Given the description of an element on the screen output the (x, y) to click on. 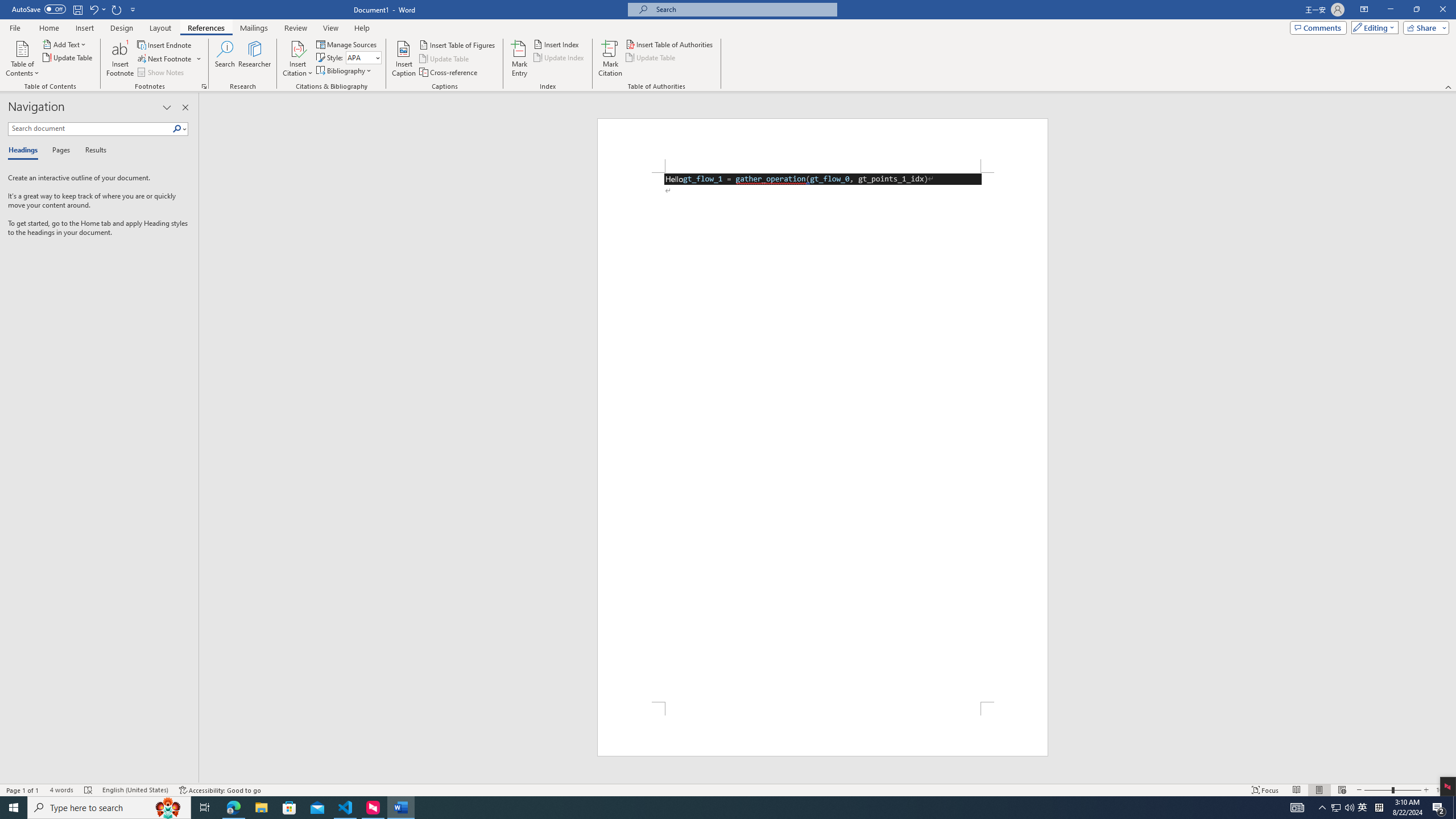
Headings (25, 150)
Researcher (254, 58)
